Given the description of an element on the screen output the (x, y) to click on. 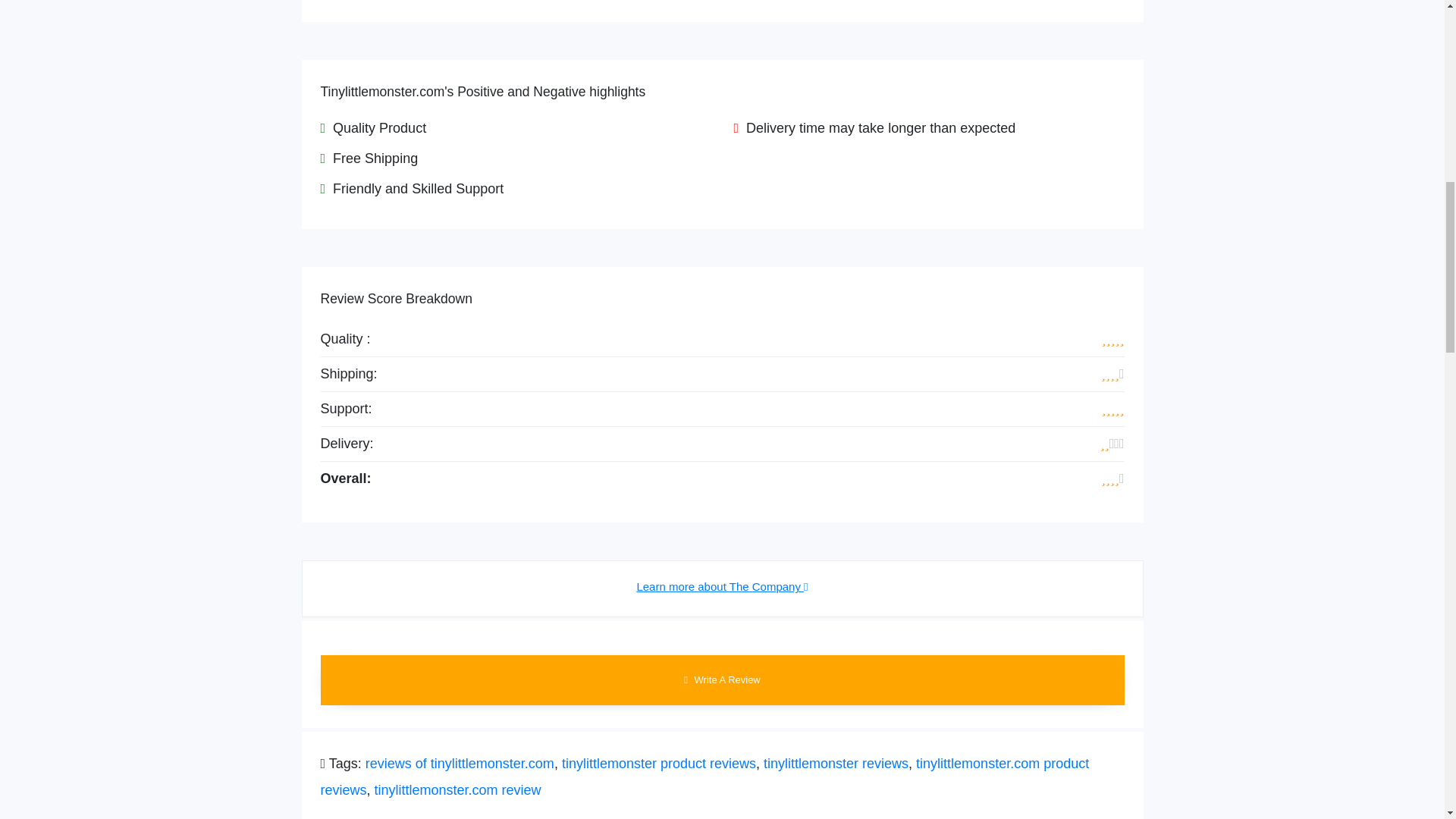
tinylittlemonster reviews (835, 763)
tinylittlemonster product reviews (658, 763)
tinylittlemonster.com review (457, 789)
reviews of tinylittlemonster.com (459, 763)
tinylittlemonster.com product reviews (704, 776)
Learn more about The Company (721, 586)
Write A Review (722, 680)
